Given the description of an element on the screen output the (x, y) to click on. 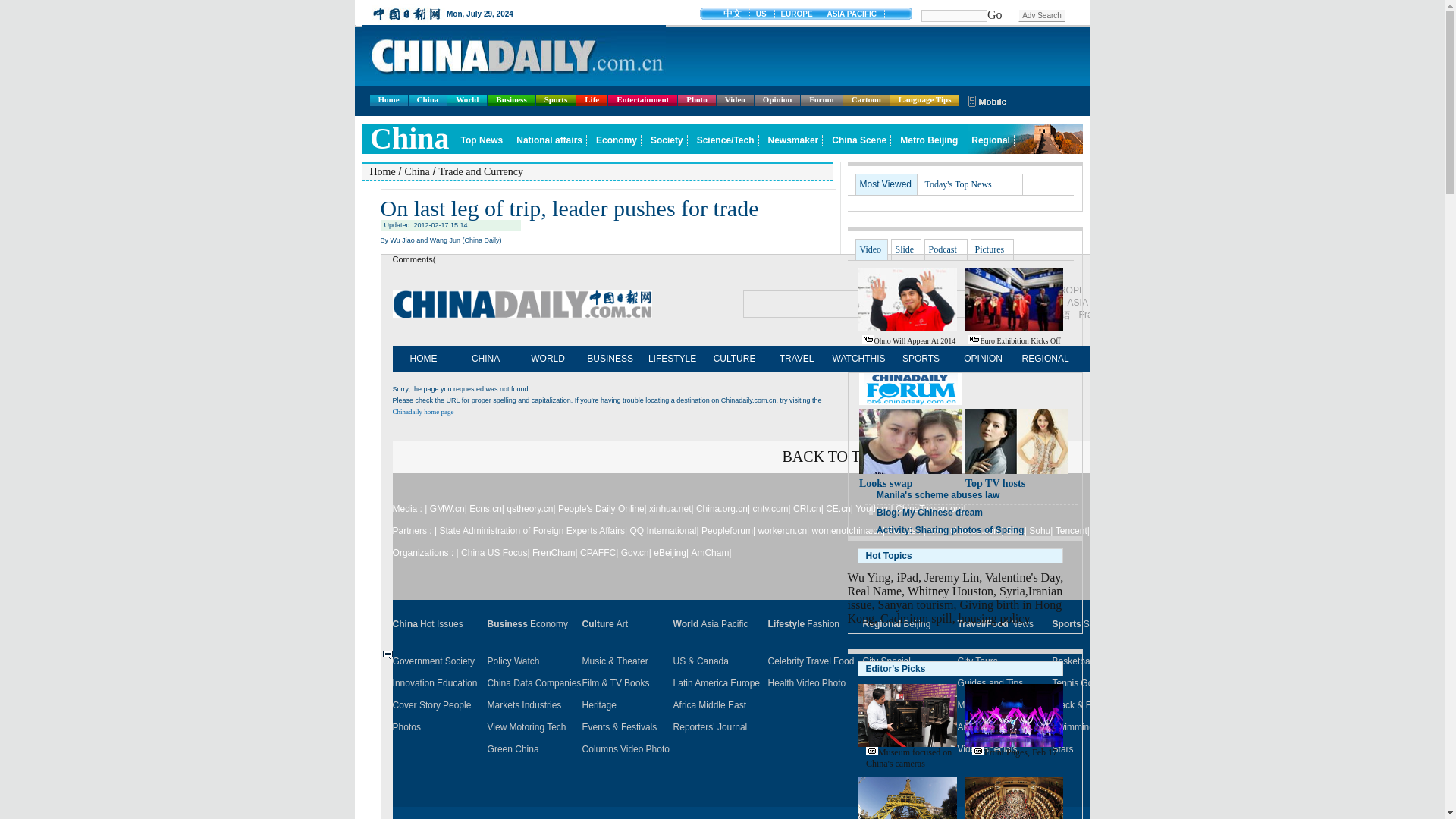
Sports (555, 100)
China (427, 100)
World (466, 100)
Home (388, 100)
Business (510, 100)
Life (591, 100)
